Given the description of an element on the screen output the (x, y) to click on. 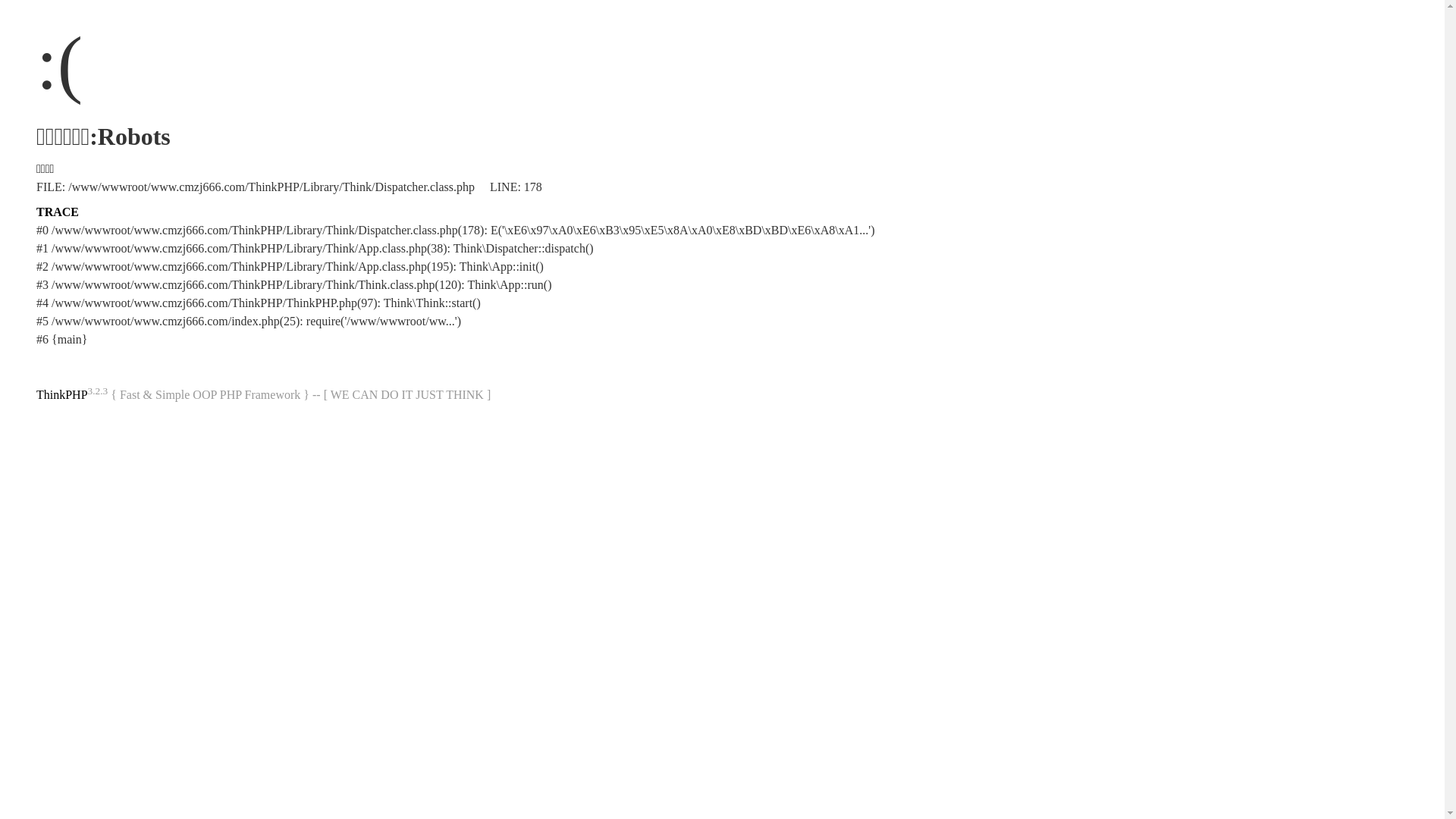
ThinkPHP Element type: text (61, 394)
